Given the description of an element on the screen output the (x, y) to click on. 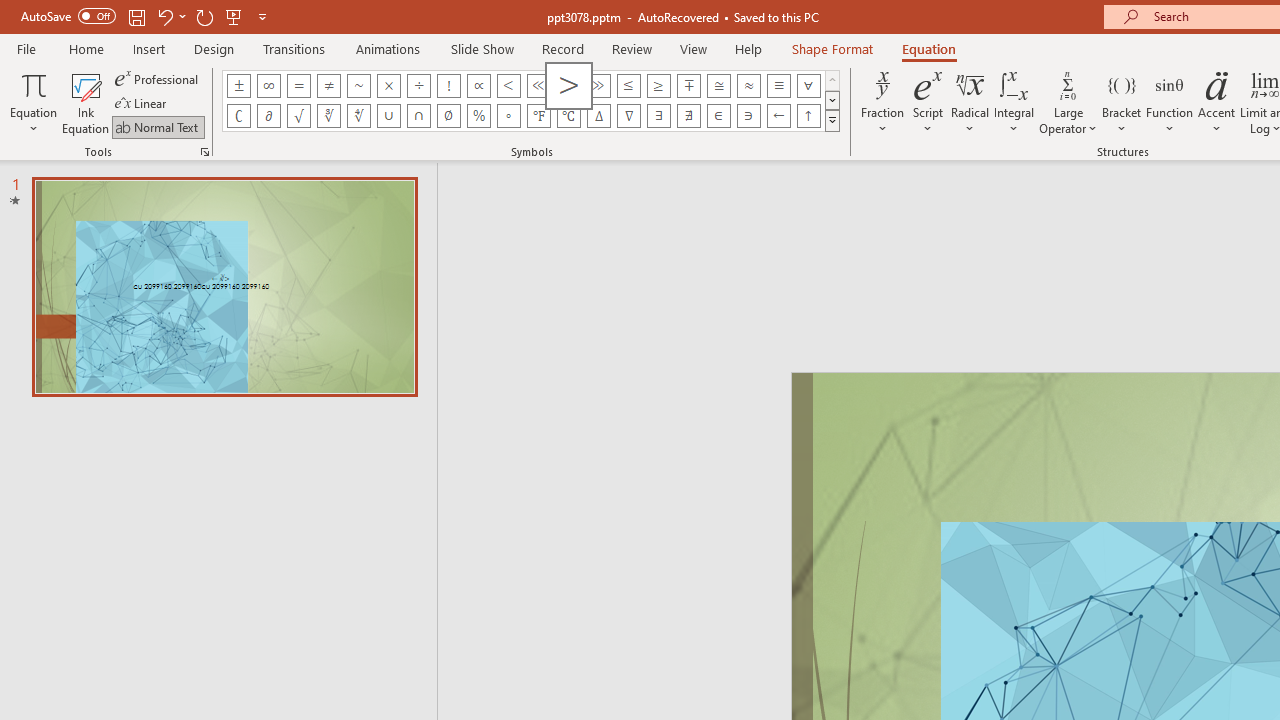
Equation Symbol Less Than or Equal To (628, 85)
Equation Symbol There Exists (658, 115)
Equation Symbol Complement (238, 115)
Equation Symbol Multiplication Sign (388, 85)
Equation Symbol Identical To (778, 85)
Accent (1216, 102)
Equation Symbol Intersection (418, 115)
